Given the description of an element on the screen output the (x, y) to click on. 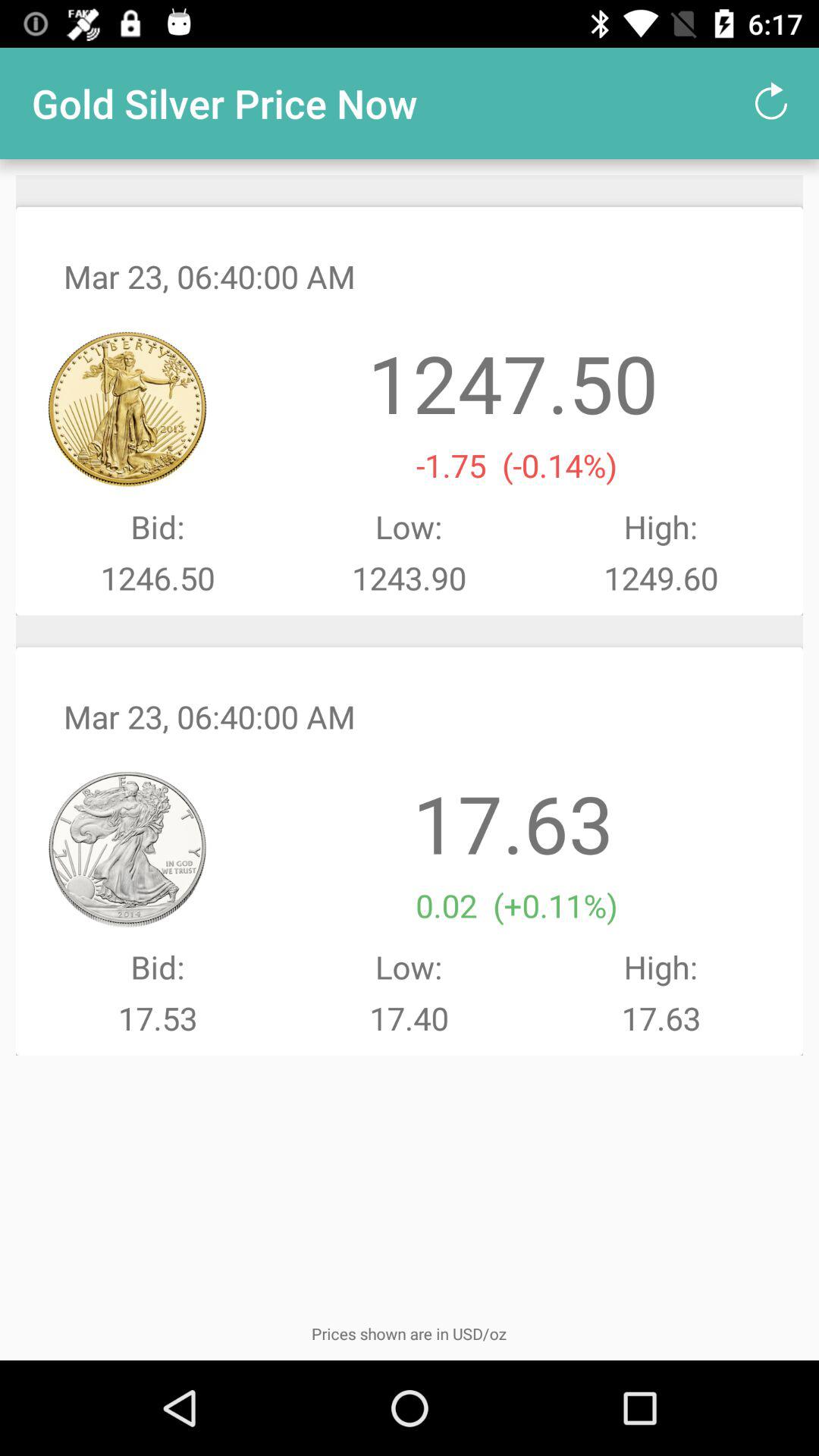
tap the icon at the top right corner (771, 103)
